Given the description of an element on the screen output the (x, y) to click on. 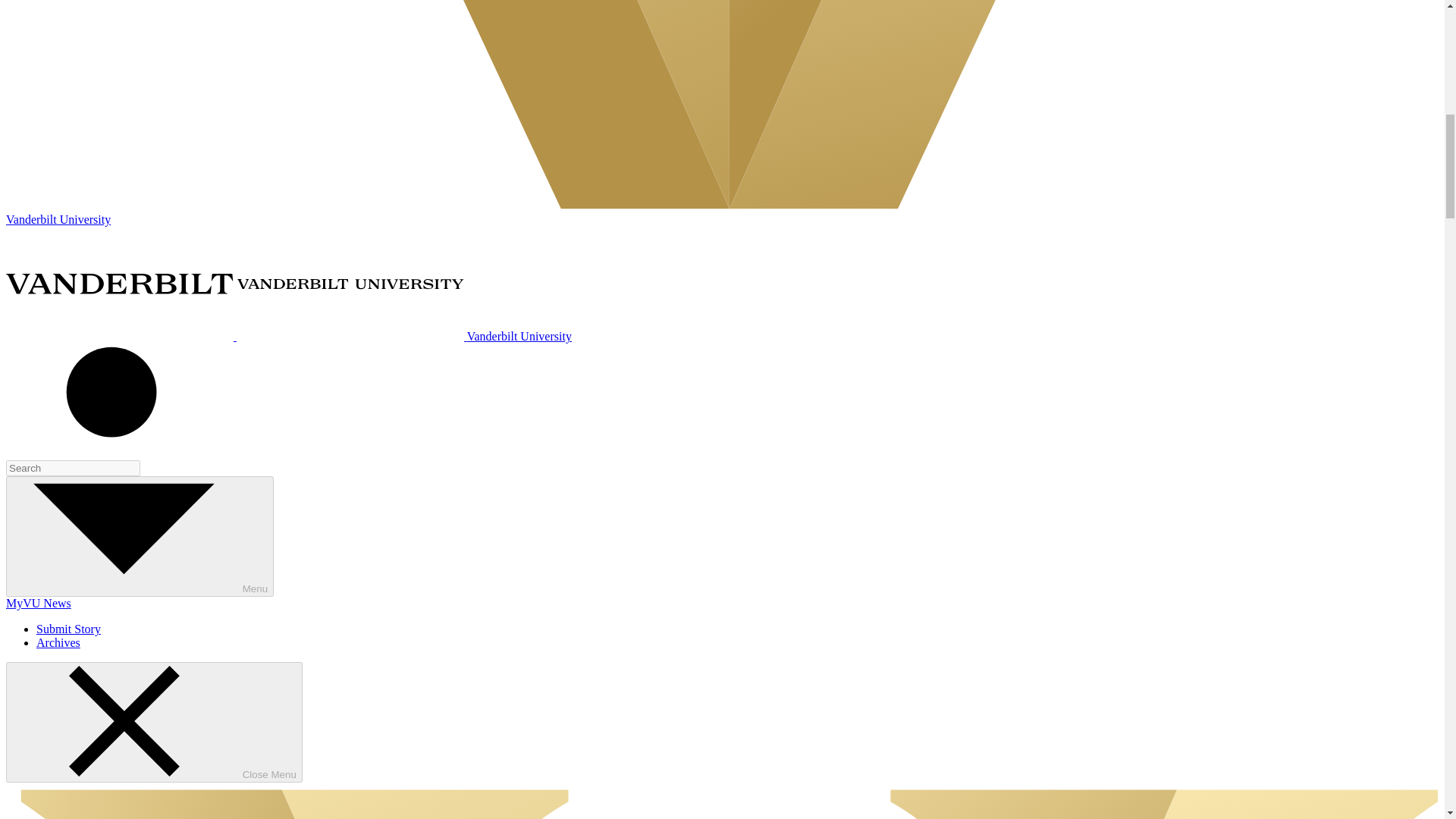
Submit Story (68, 628)
Close Menu (153, 721)
Archives (58, 642)
Vanderbilt University (288, 336)
MyVU News (38, 603)
Menu (139, 536)
